Given the description of an element on the screen output the (x, y) to click on. 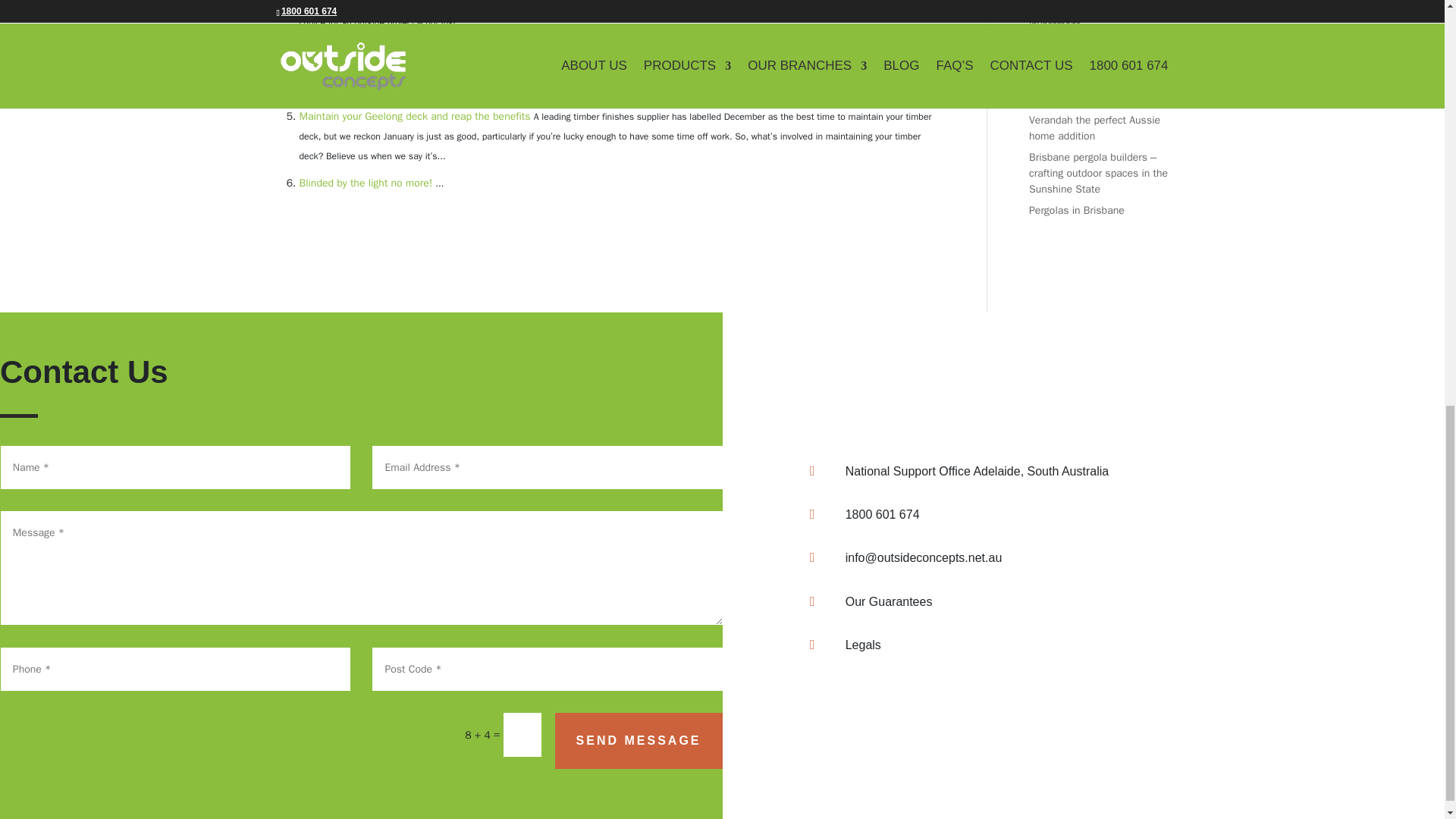
Build a new pergola and reap the benefits (395, 49)
Blinded by the light no more! (365, 182)
Maintain your Geelong deck and reap the benefits (413, 115)
Maximum length: 10 characters. (547, 669)
Minimum length: 11 characters.  (547, 466)
